Given the description of an element on the screen output the (x, y) to click on. 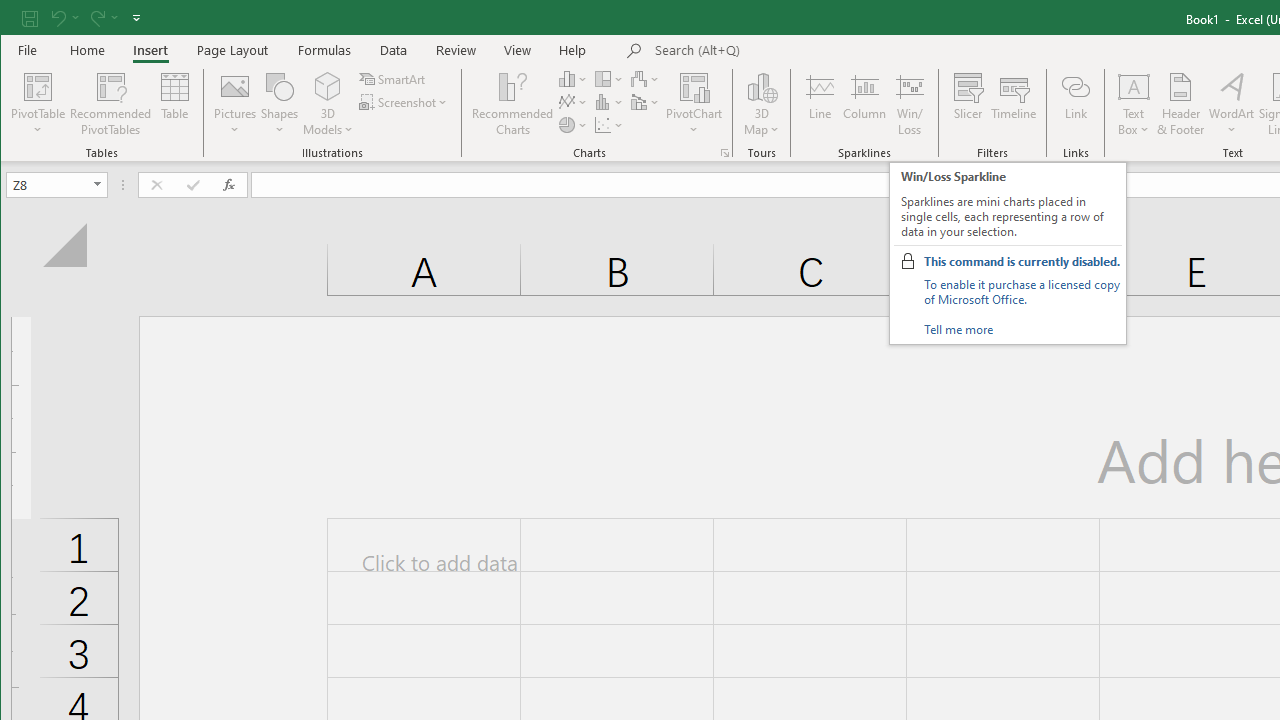
Insert Statistic Chart (609, 101)
Insert Combo Chart (646, 101)
Text Box (1133, 104)
Draw Horizontal Text Box (1133, 86)
PivotTable (37, 86)
Header & Footer... (1180, 104)
Pictures (235, 104)
3D Map (762, 104)
SmartArt... (393, 78)
Insert Line or Area Chart (573, 101)
3D Models (327, 104)
